Given the description of an element on the screen output the (x, y) to click on. 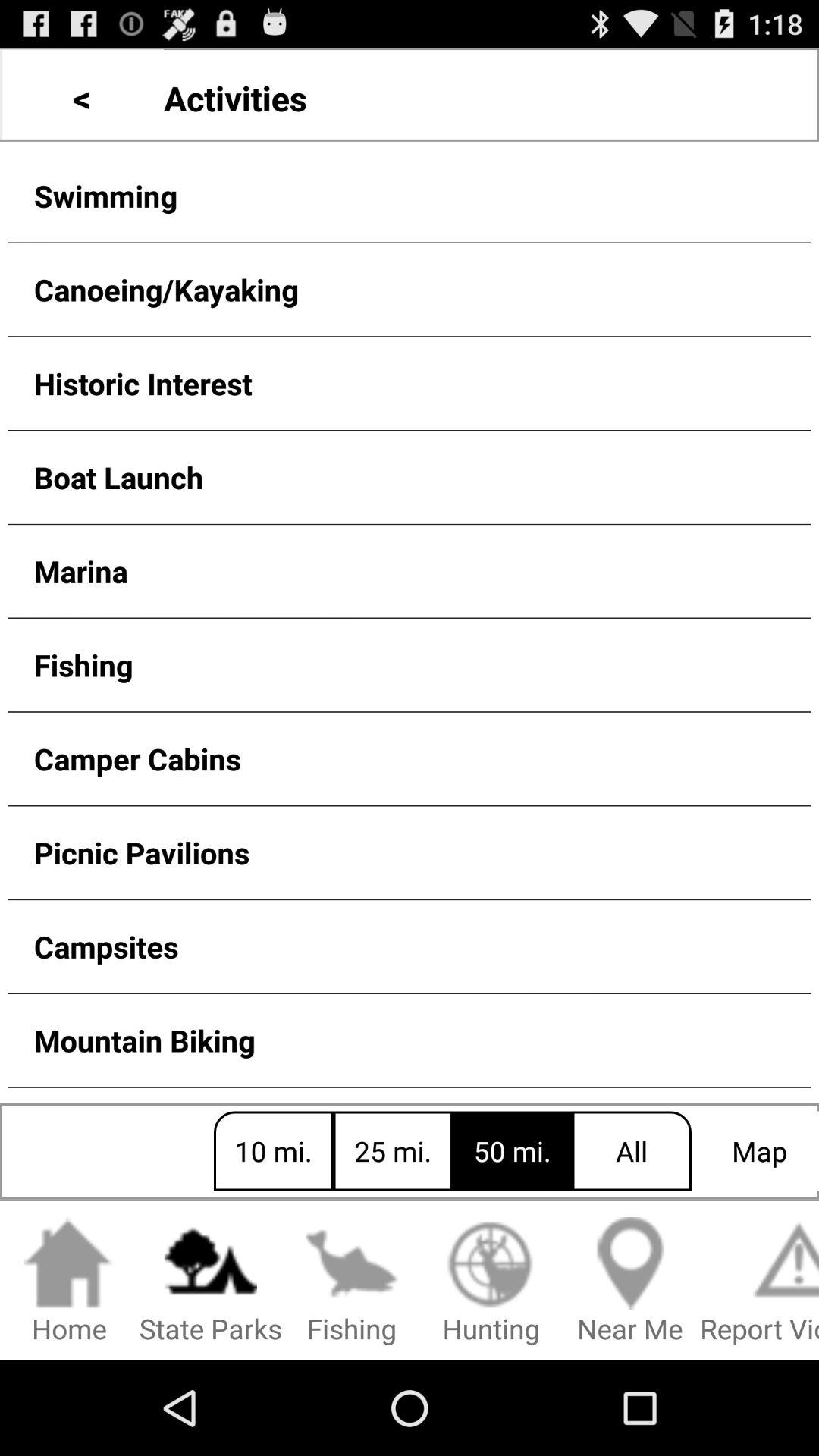
swipe until the near me item (630, 1282)
